Given the description of an element on the screen output the (x, y) to click on. 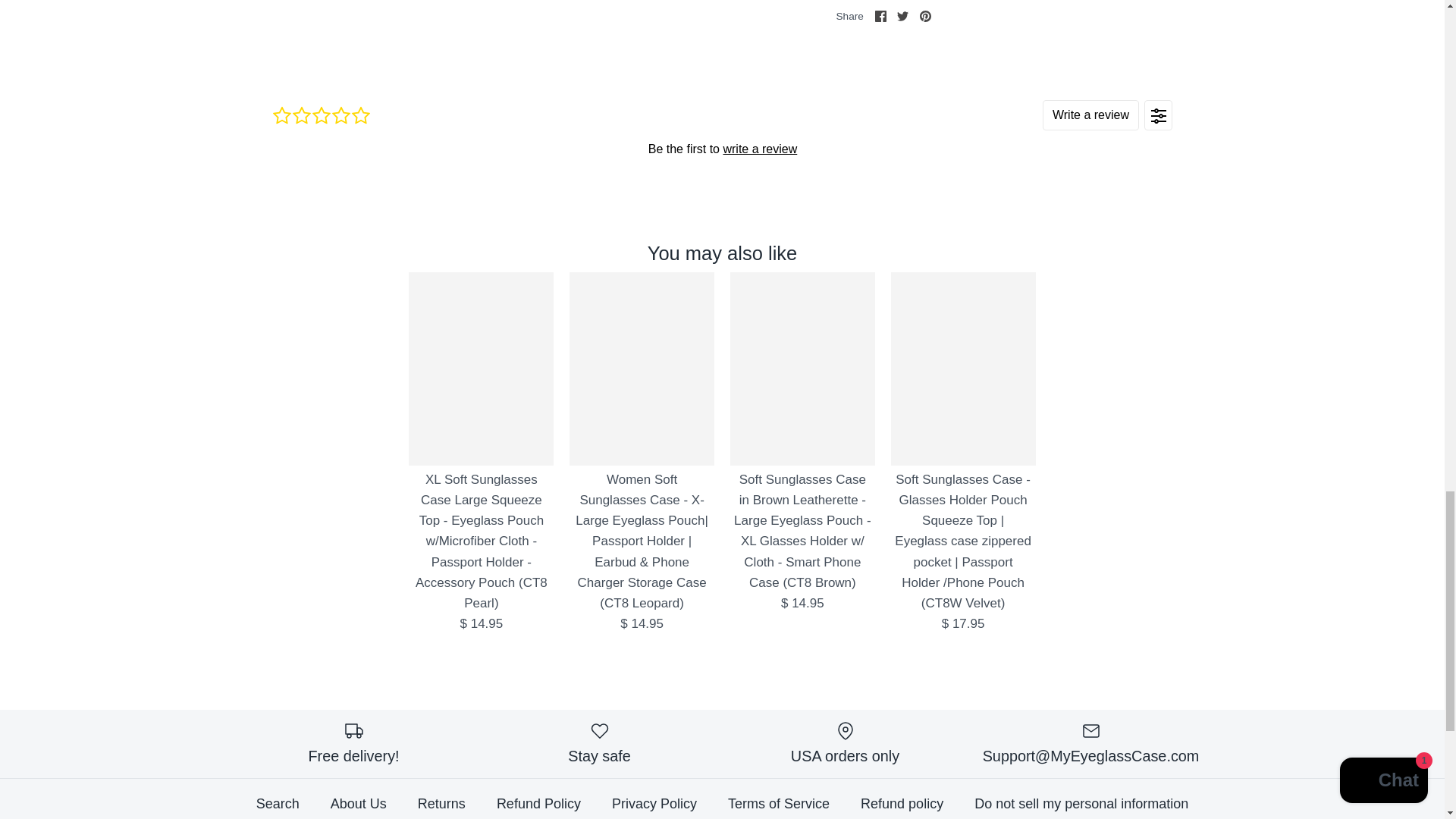
Twitter (902, 16)
Facebook (880, 16)
Pinterest (925, 16)
Product reviews widget (721, 148)
